Given the description of an element on the screen output the (x, y) to click on. 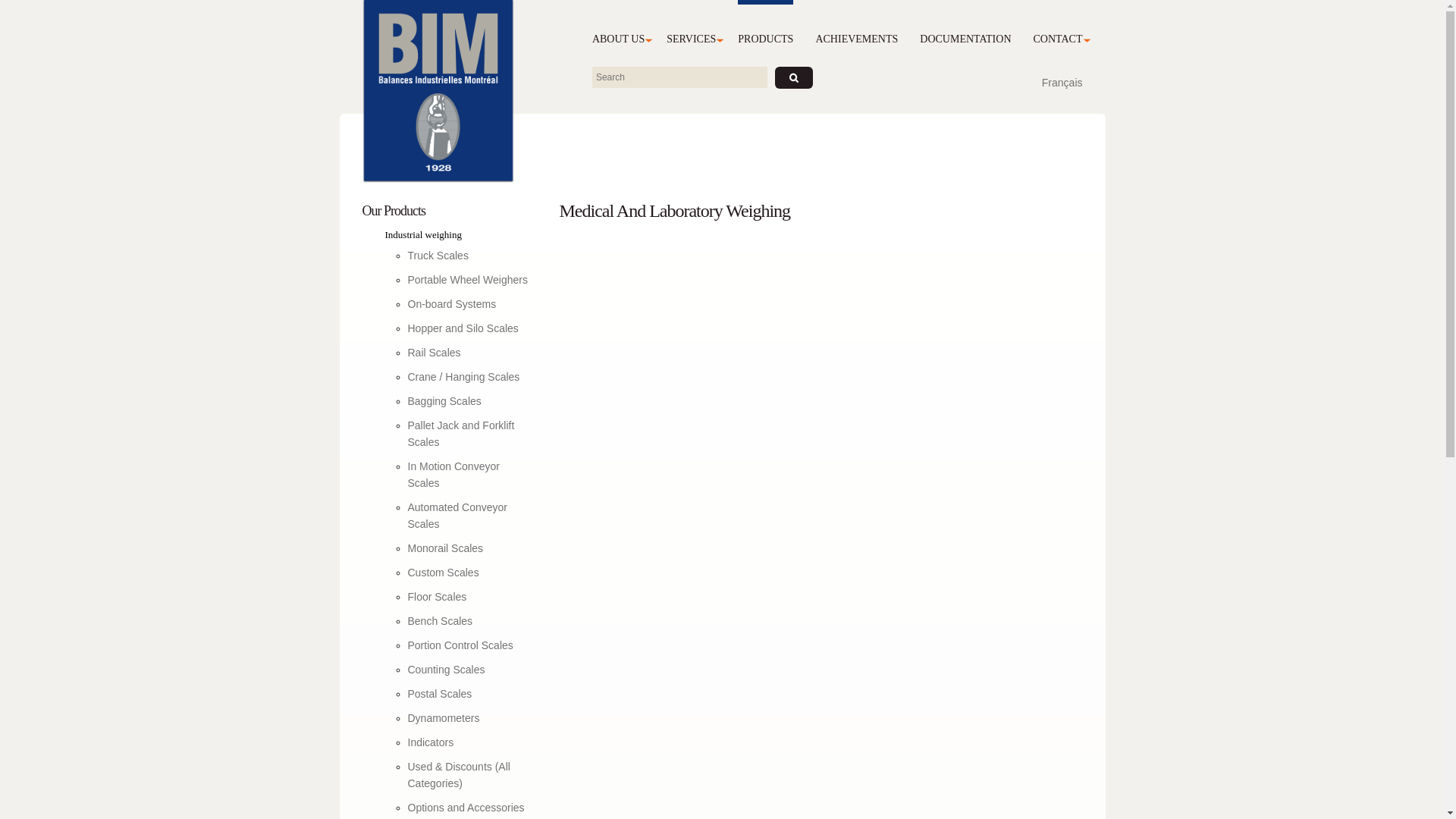
Floor Scales Element type: text (437, 596)
Automated Conveyor Scales Element type: text (457, 515)
Used & Discounts (All Categories) Element type: text (458, 774)
Industrial weighing Element type: text (457, 234)
Hopper and Silo Scales Element type: text (462, 328)
Bagging Scales Element type: text (444, 401)
On-board Systems Element type: text (451, 304)
Indicators Element type: text (430, 742)
Rail Scales Element type: text (434, 352)
Apply Element type: text (793, 77)
ACHIEVEMENTS Element type: text (856, 26)
Custom Scales Element type: text (443, 572)
Portion Control Scales Element type: text (460, 645)
Counting Scales Element type: text (446, 669)
Home Element type: hover (438, 91)
Monorail Scales Element type: text (445, 548)
In Motion Conveyor Scales Element type: text (453, 474)
Pallet Jack and Forklift Scales Element type: text (460, 433)
Dynamometers Element type: text (443, 718)
Portable Wheel Weighers Element type: text (467, 279)
DOCUMENTATION Element type: text (964, 26)
PRODUCTS Element type: text (765, 26)
Truck Scales Element type: text (437, 255)
Postal Scales Element type: text (439, 693)
Bench Scales Element type: text (440, 621)
Crane / Hanging Scales Element type: text (463, 376)
